Given the description of an element on the screen output the (x, y) to click on. 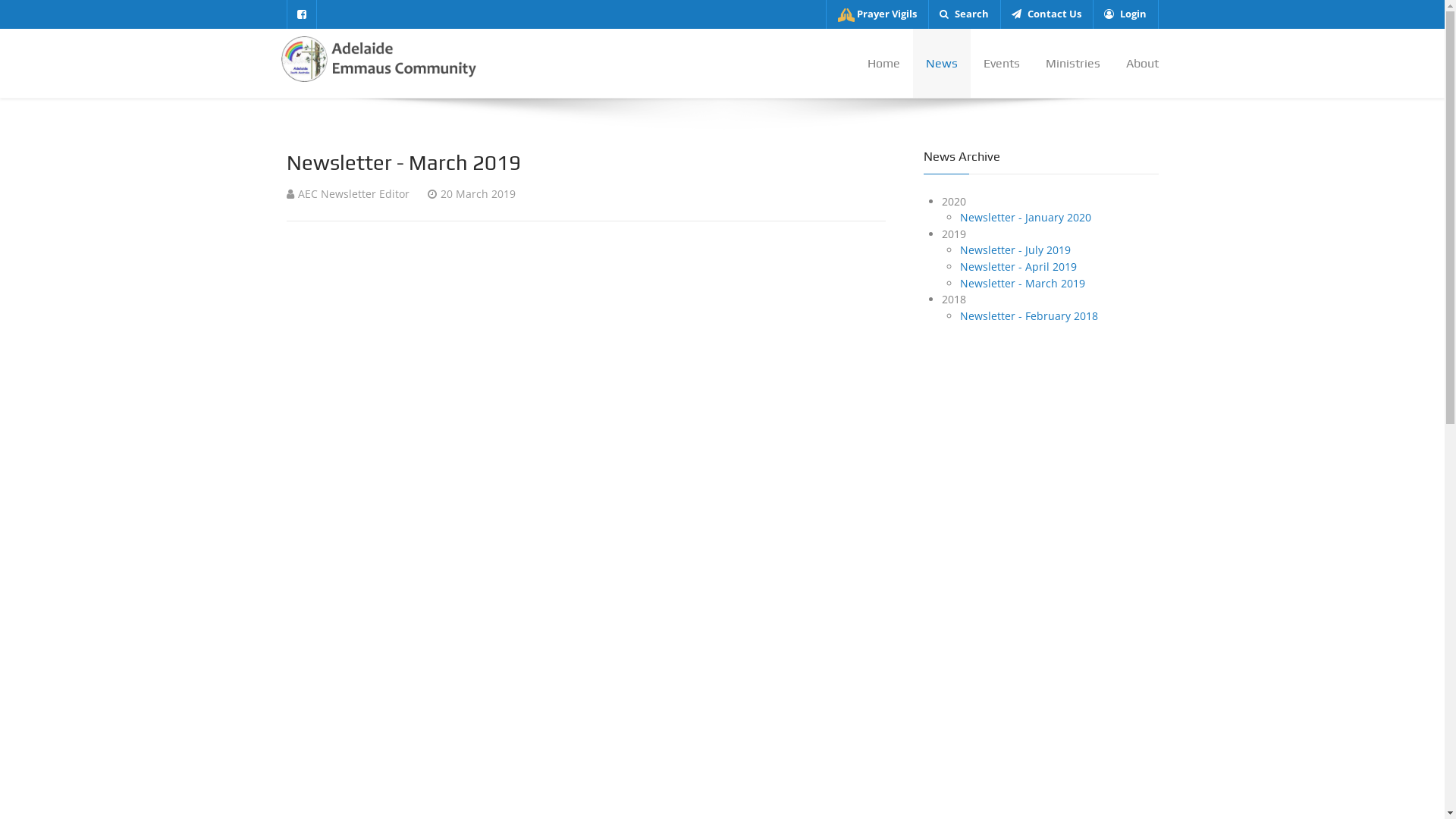
About Element type: text (1135, 62)
Prayer Vigils Element type: text (1027, 549)
Newsletter - February 2018 Element type: text (1029, 315)
Emmaus Ministries Australia Element type: text (367, 613)
Privacy Policy Element type: text (1027, 637)
Daily Reflections Element type: text (1027, 593)
Events Element type: text (1001, 62)
Home Element type: text (882, 62)
Australian Emmaus Communities Element type: text (1027, 571)
Search Element type: text (964, 14)
Prayer Vigils Element type: text (877, 14)
Login - Registered Users Element type: hover (904, 782)
Newsletter - April 2019 Element type: text (1018, 266)
Ministries Element type: text (1072, 62)
Newsletter - January 2020 Element type: text (1025, 217)
Emmaus Australia Element type: hover (380, 57)
Login - Registered Users Element type: text (1027, 681)
Adelaide Emmaus Community Facebook - Group Element type: hover (1144, 782)
Contact Us Element type: text (1027, 615)
News Element type: text (941, 62)
Newsletter - July 2019 Element type: text (1015, 249)
Contact the National webmaster Element type: hover (871, 782)
Terms & Conditions Element type: text (1027, 659)
Adelaide Emmaus Community Facebook Group Element type: hover (301, 14)
Newsletter - March 2019 Element type: text (1022, 283)
Login Element type: text (1124, 14)
AEC - Facebook Group Element type: text (350, 592)
Contact Us Element type: text (1045, 14)
